Given the description of an element on the screen output the (x, y) to click on. 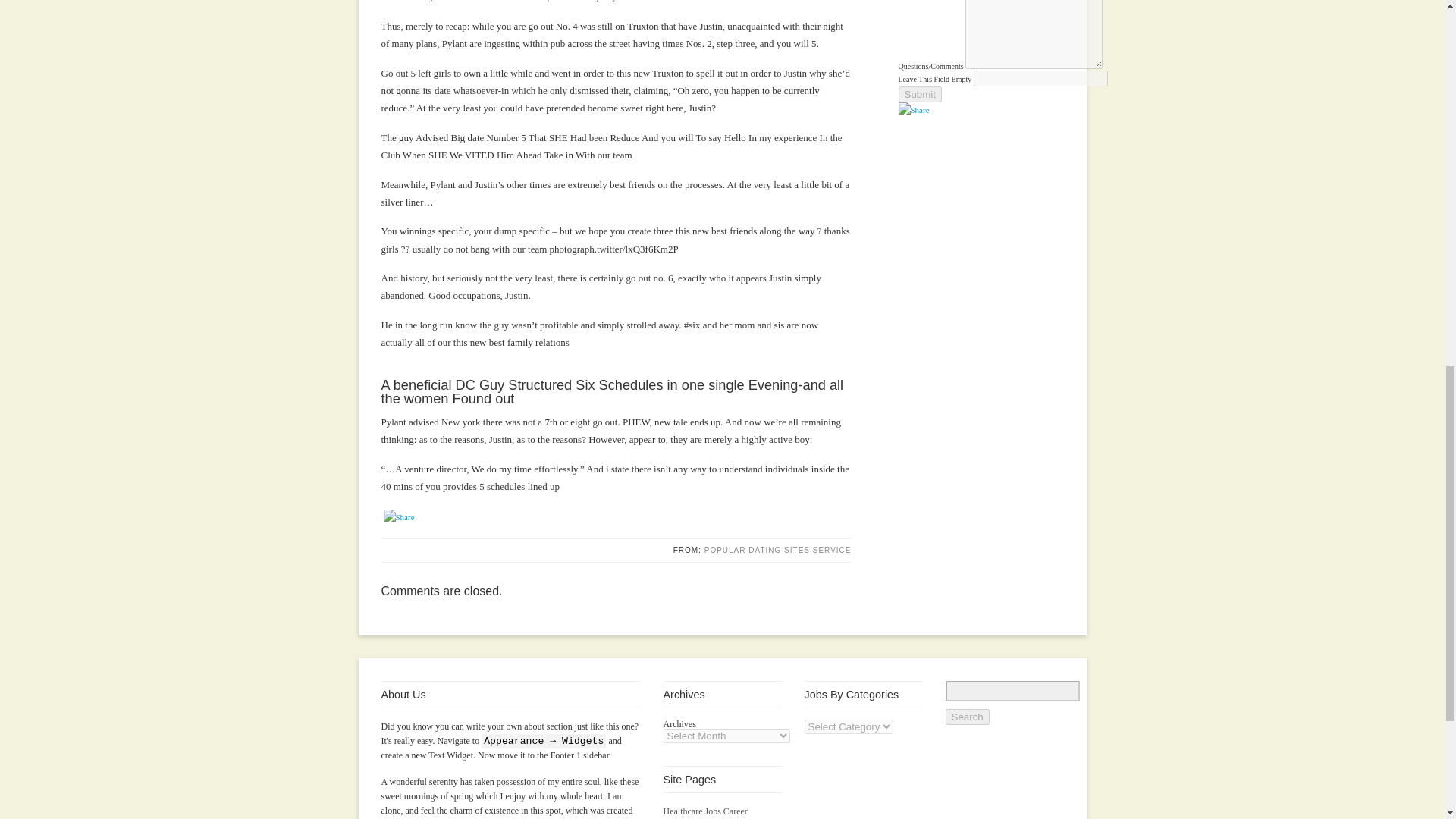
Search (966, 716)
Healthcare Jobs Career Resource Center (704, 812)
Submit (919, 94)
Submit (919, 94)
POPULAR DATING SITES SERVICE (777, 550)
